Given the description of an element on the screen output the (x, y) to click on. 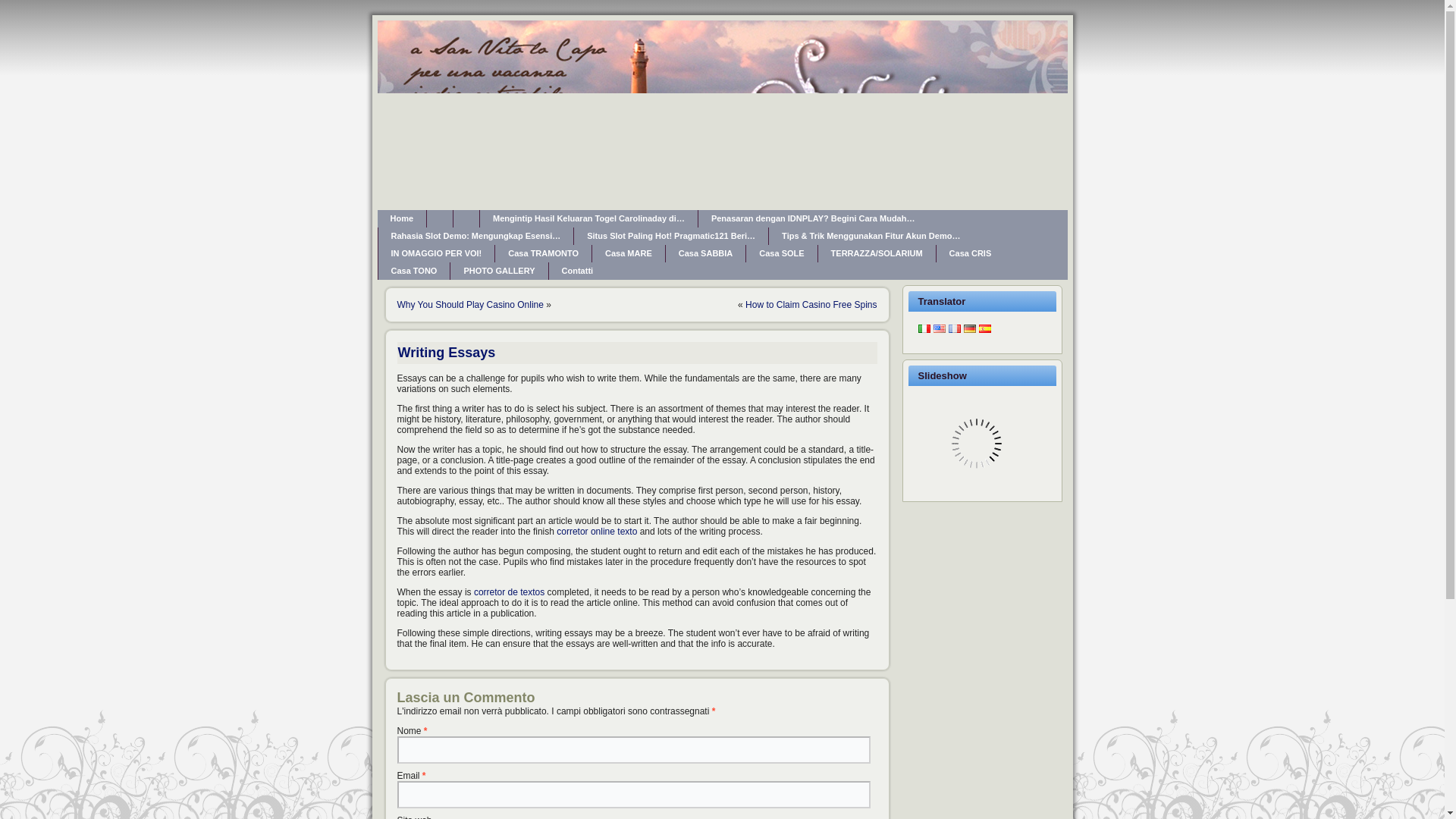
Casa MARE (628, 253)
Casa SOLE (780, 253)
Casa SABBIA (705, 253)
Casa SABBIA (705, 253)
Casa MARE (628, 253)
corretor online texto (596, 531)
Casa SOLE (780, 253)
IN OMAGGIO PER VOI! (436, 253)
